Given the description of an element on the screen output the (x, y) to click on. 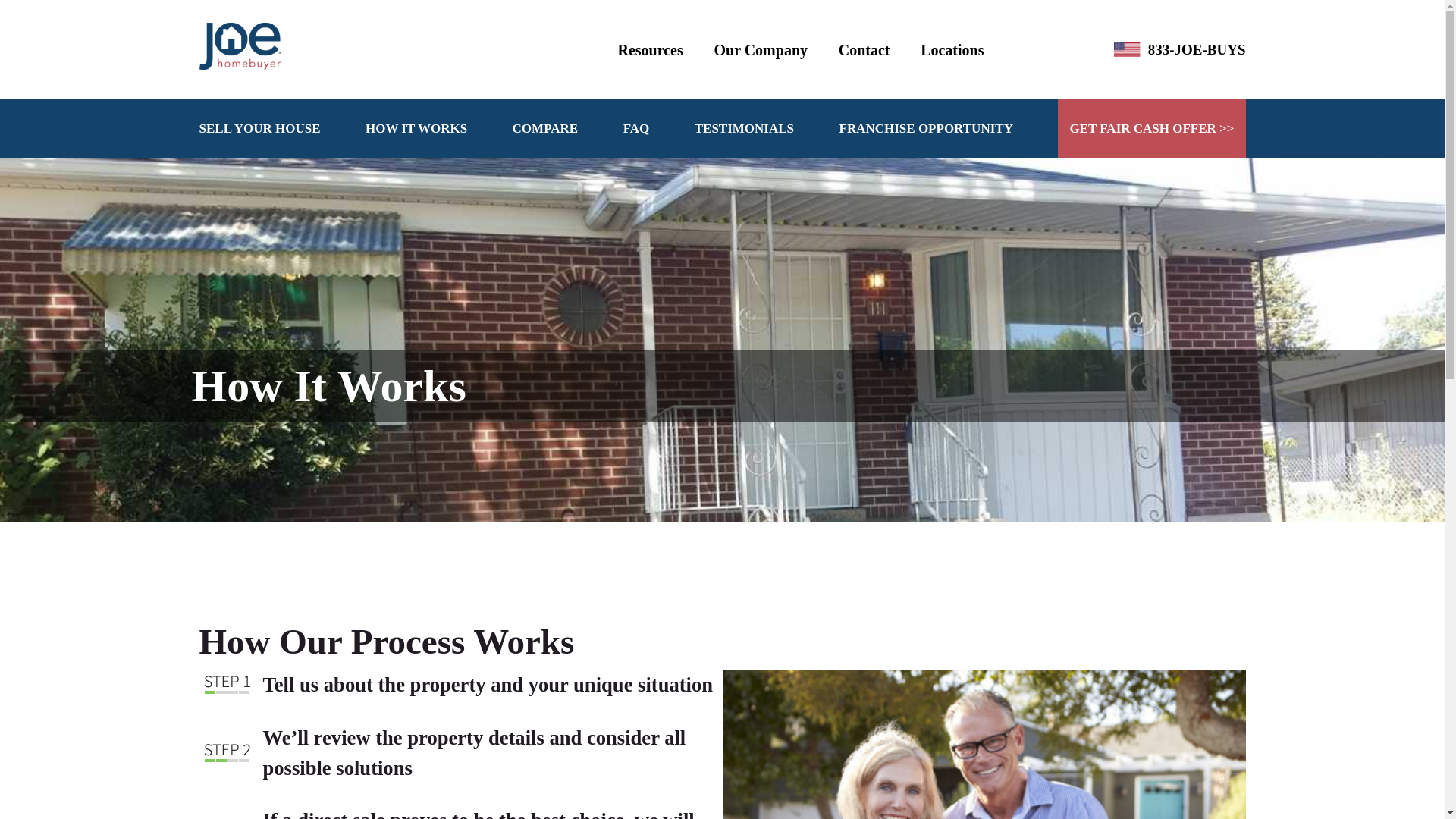
FRANCHISE OPPORTUNITY (926, 128)
HOW IT WORKS (416, 128)
SELL YOUR HOUSE (259, 128)
Contact (863, 49)
Resources (649, 49)
Our Company (760, 49)
COMPARE (545, 128)
TESTIMONIALS (743, 128)
Locations (952, 49)
833-JOE-BUYS (1197, 48)
